Given the description of an element on the screen output the (x, y) to click on. 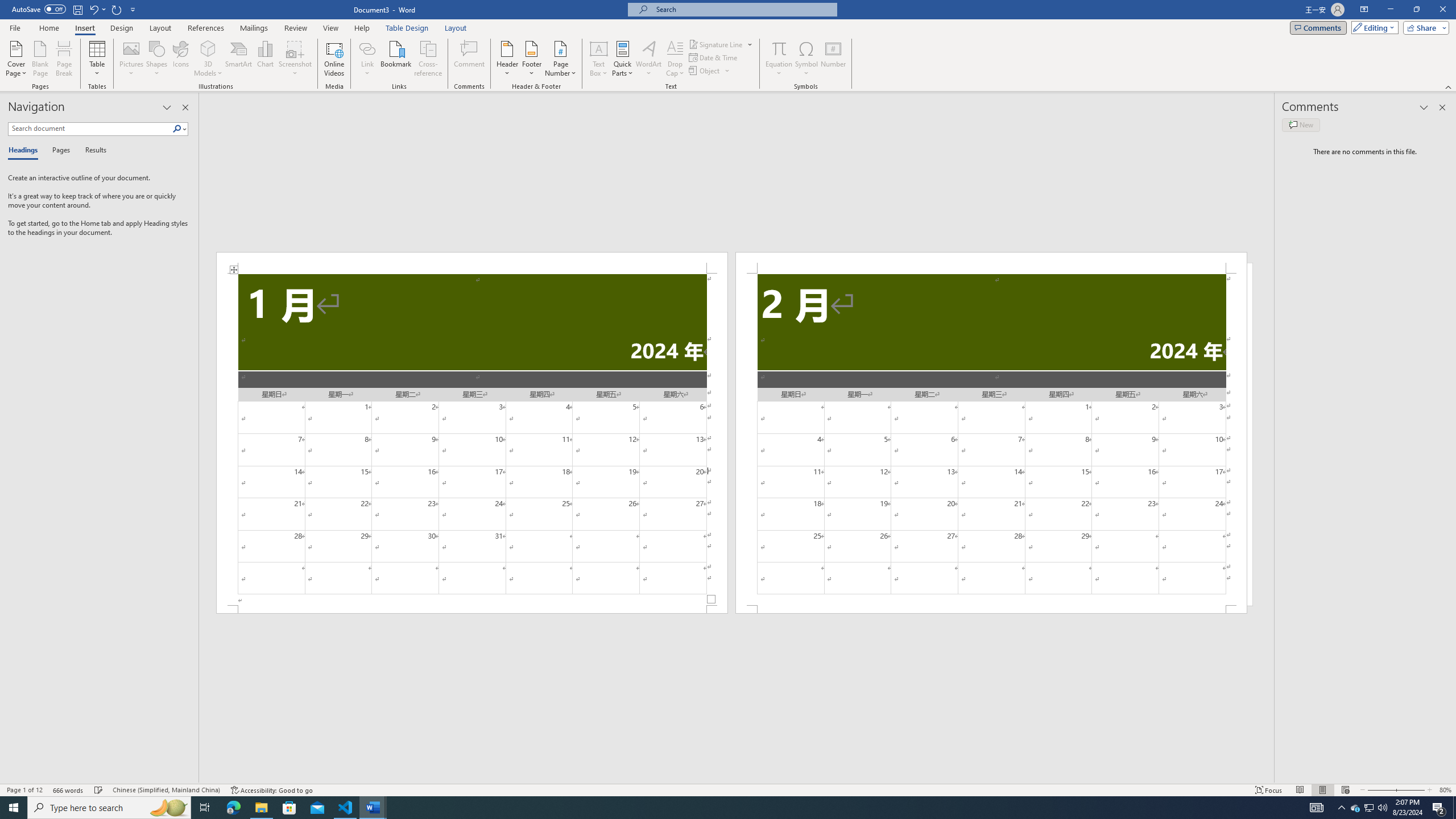
Symbol (806, 58)
Cover Page (16, 58)
Ribbon Display Options (1364, 9)
Accessibility Checker Accessibility: Good to go (271, 790)
Link (367, 58)
Object... (709, 69)
Page 2 content (991, 439)
Language Chinese (Simplified, Mainland China) (165, 790)
Share (1423, 27)
Print Layout (1322, 790)
Class: NetUIImage (177, 128)
Zoom Out (1378, 790)
Signature Line (721, 44)
Header -Section 1- (471, 263)
